Given the description of an element on the screen output the (x, y) to click on. 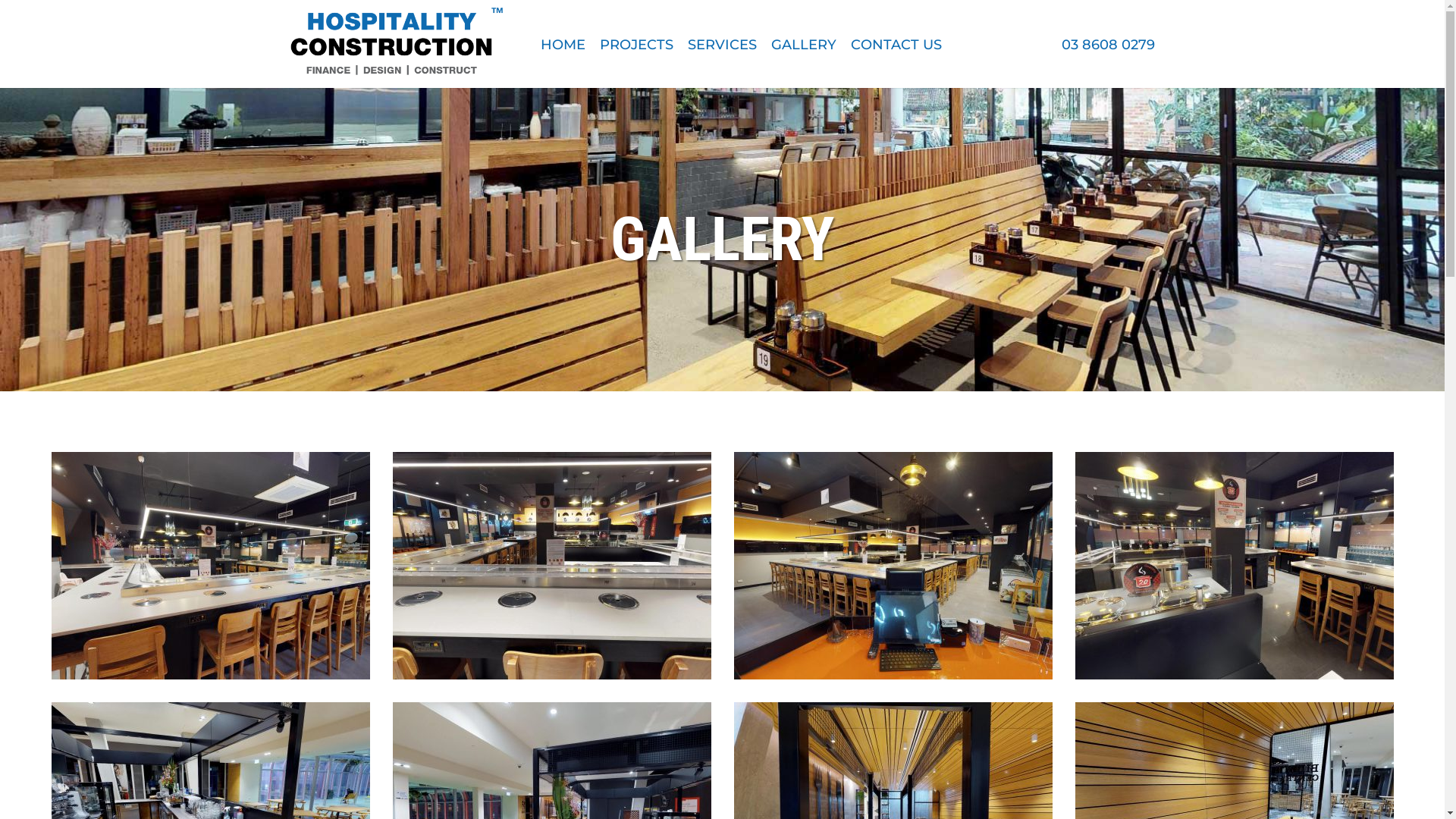
GALLERY Element type: text (802, 44)
CONTACT US Element type: text (895, 44)
SERVICES Element type: text (721, 44)
HOME Element type: text (561, 44)
PROJECTS Element type: text (635, 44)
03 8608 0279 Element type: text (1107, 44)
